Given the description of an element on the screen output the (x, y) to click on. 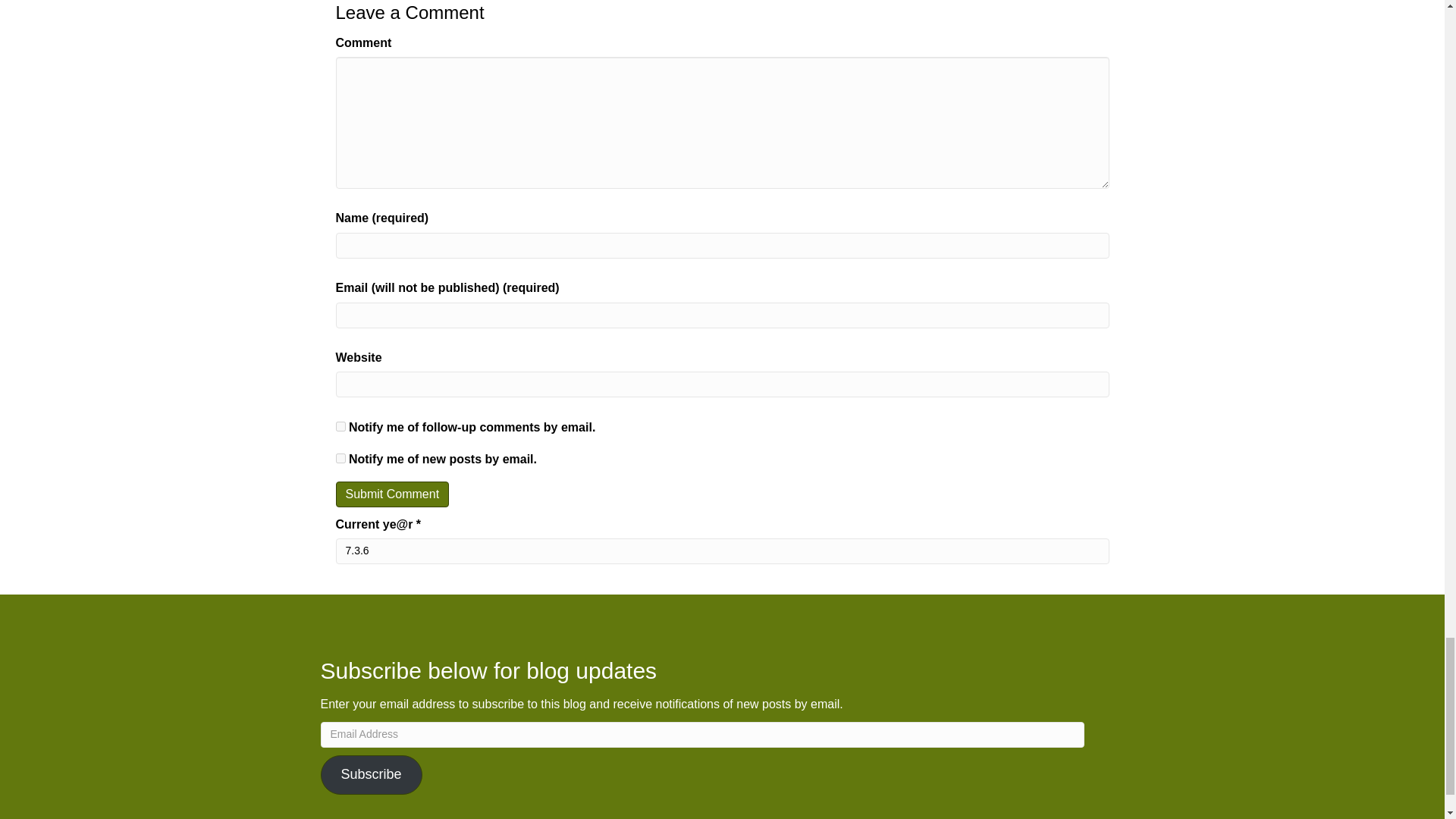
7.3.6 (721, 551)
subscribe (339, 426)
Submit Comment (391, 493)
subscribe (339, 458)
